Given the description of an element on the screen output the (x, y) to click on. 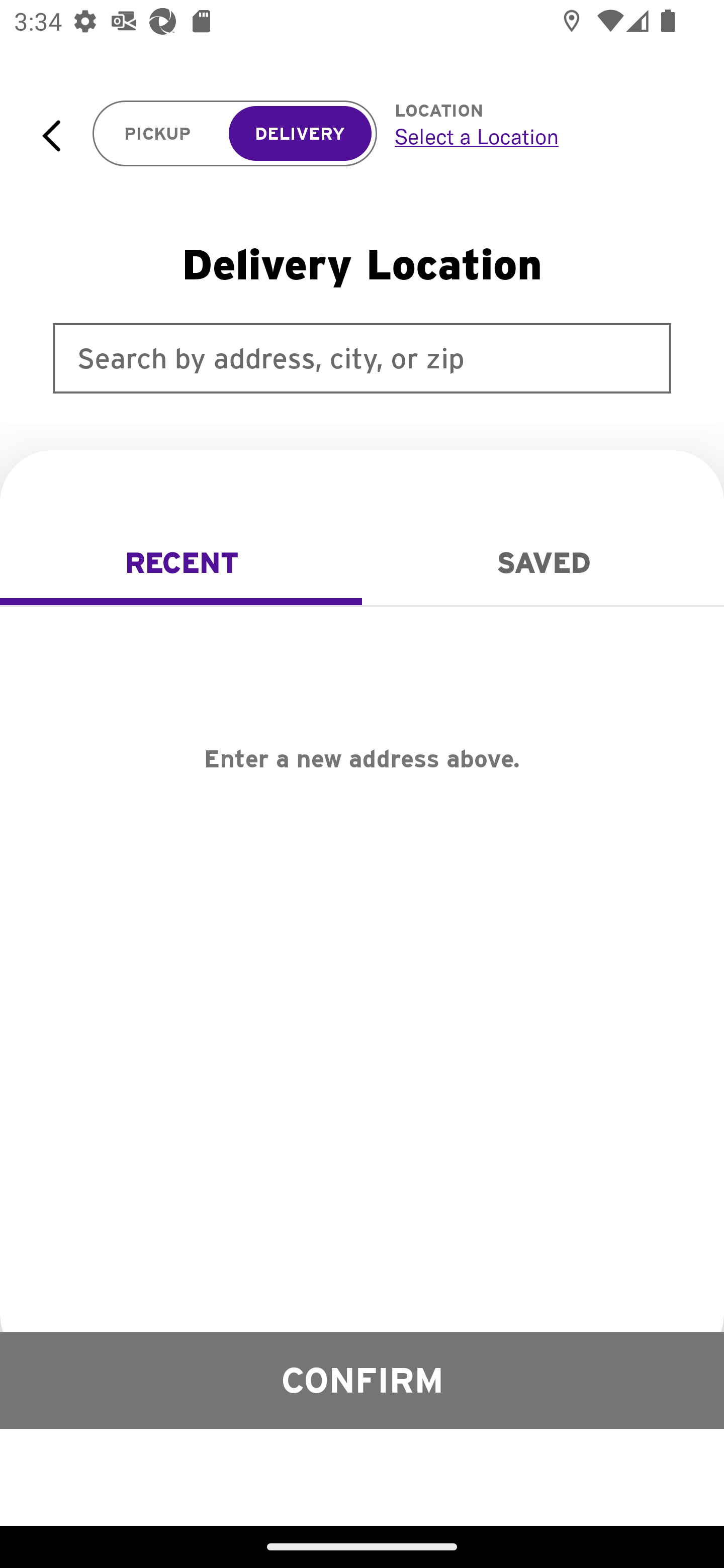
PICKUP (157, 133)
DELIVERY (299, 133)
Select a Location (536, 136)
Search by address, city, or zip (361, 358)
Saved SAVED (543, 562)
CONFIRM (362, 1379)
